Given the description of an element on the screen output the (x, y) to click on. 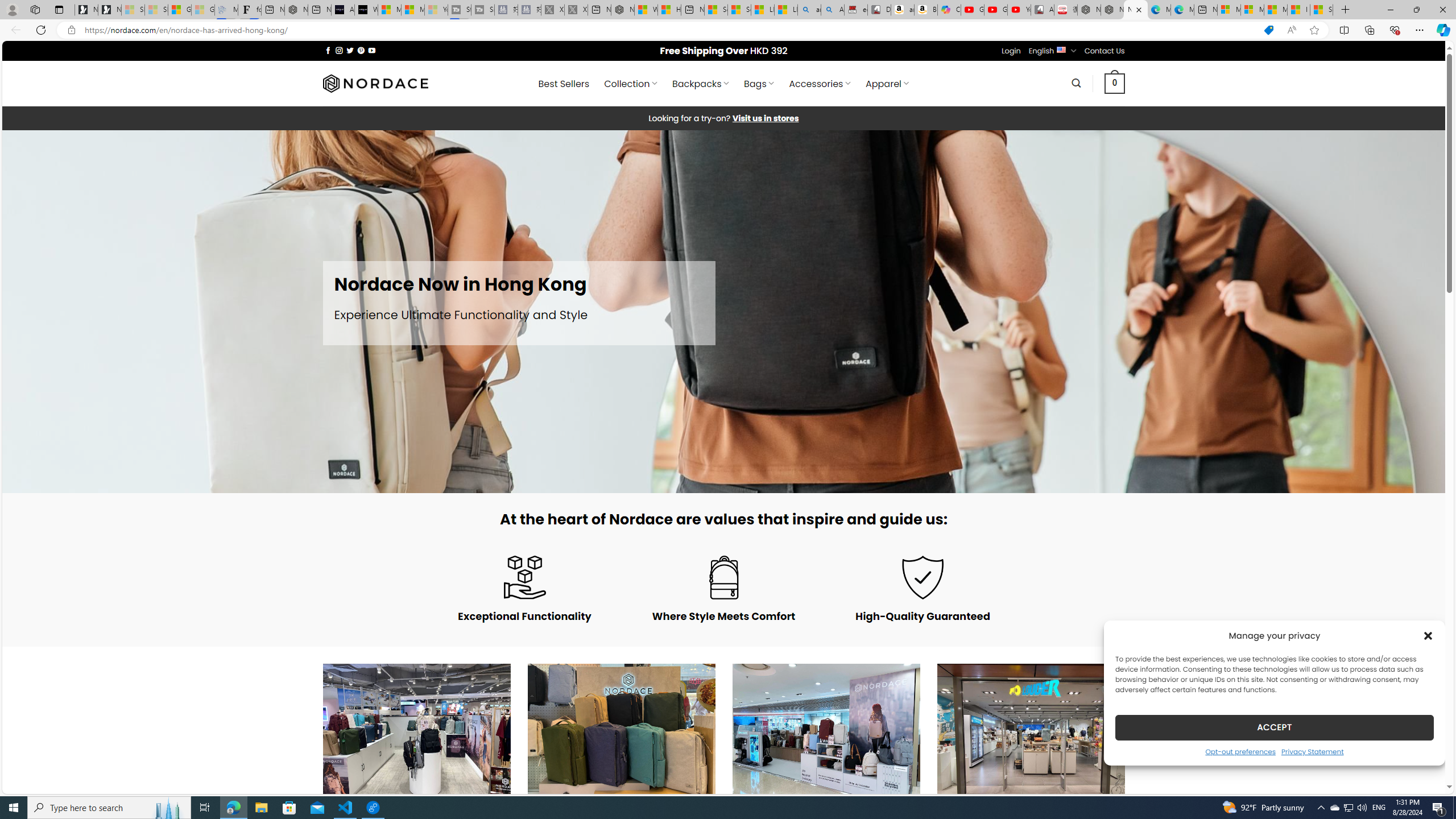
Huge shark washes ashore at New York City beach | Watch (668, 9)
Nordace - My Account (622, 9)
YouTube Kids - An App Created for Kids to Explore Content (1019, 9)
